Given the description of an element on the screen output the (x, y) to click on. 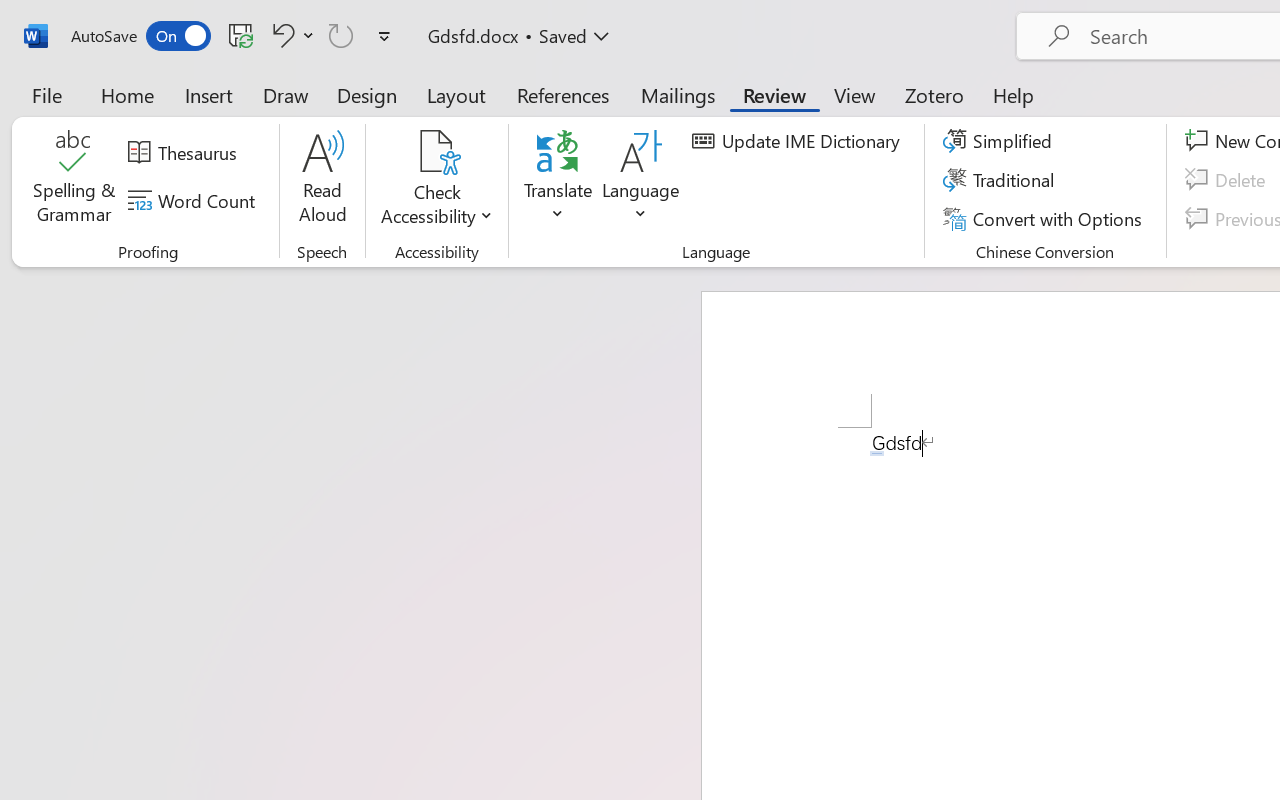
Simplified (1000, 141)
Traditional (1001, 179)
Thesaurus... (185, 153)
Convert with Options... (1045, 218)
